Given the description of an element on the screen output the (x, y) to click on. 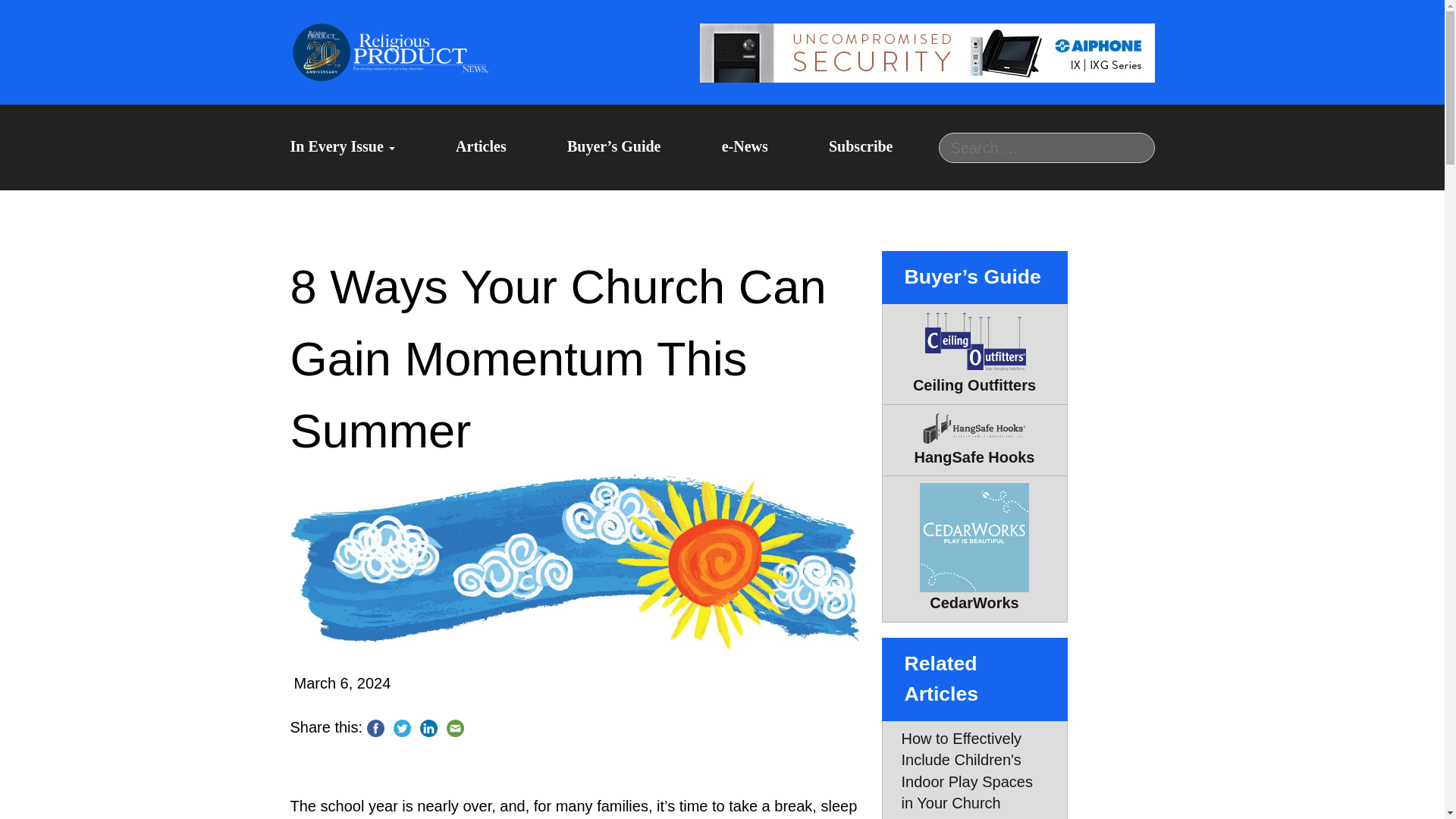
Subscribe (860, 147)
Linkedin (428, 728)
Articles (480, 147)
Search (29, 13)
E-NEWS (91, 590)
ARTICLES (114, 448)
In Every Issue (341, 147)
e-News (745, 147)
Buyer's Guide (614, 147)
